Given the description of an element on the screen output the (x, y) to click on. 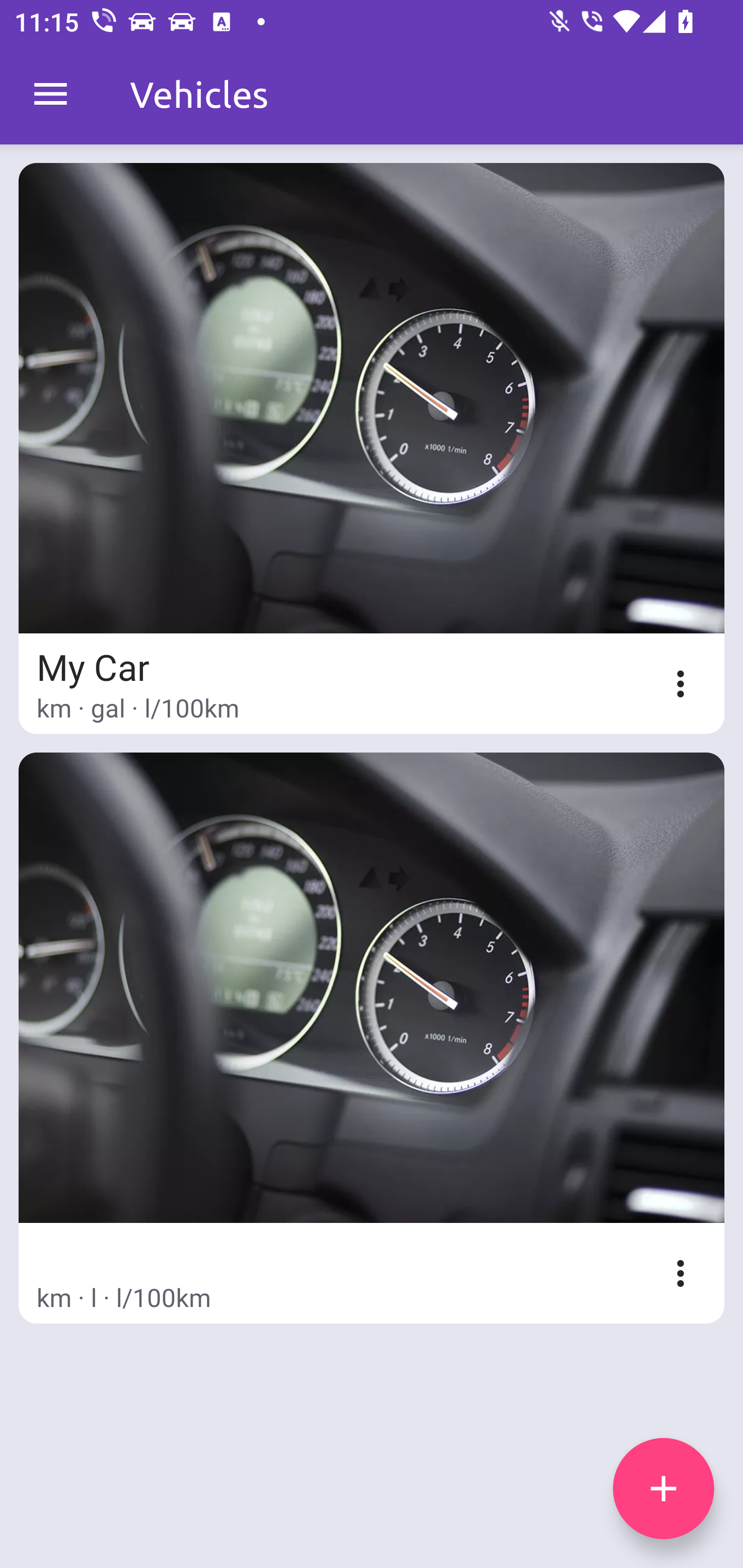
MenuDrawer (50, 93)
My Car km · gal · l/100km (371, 448)
km · l · l/100km (371, 1037)
add icon (663, 1488)
